Given the description of an element on the screen output the (x, y) to click on. 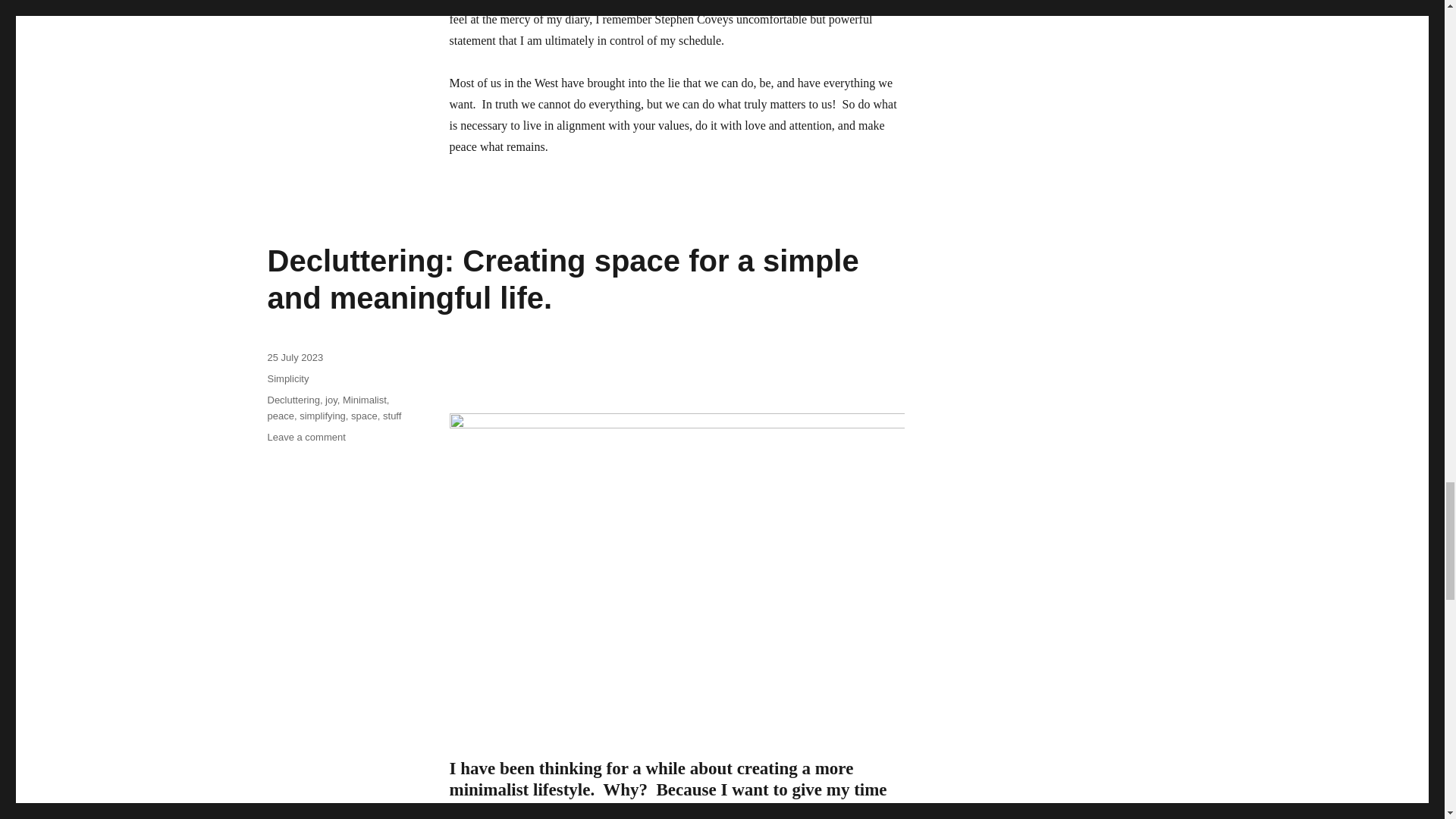
25 July 2023 (294, 357)
simplifying (322, 415)
peace (280, 415)
stuff (391, 415)
space (363, 415)
Simplicity (287, 378)
Minimalist (364, 399)
Decluttering (292, 399)
